Given the description of an element on the screen output the (x, y) to click on. 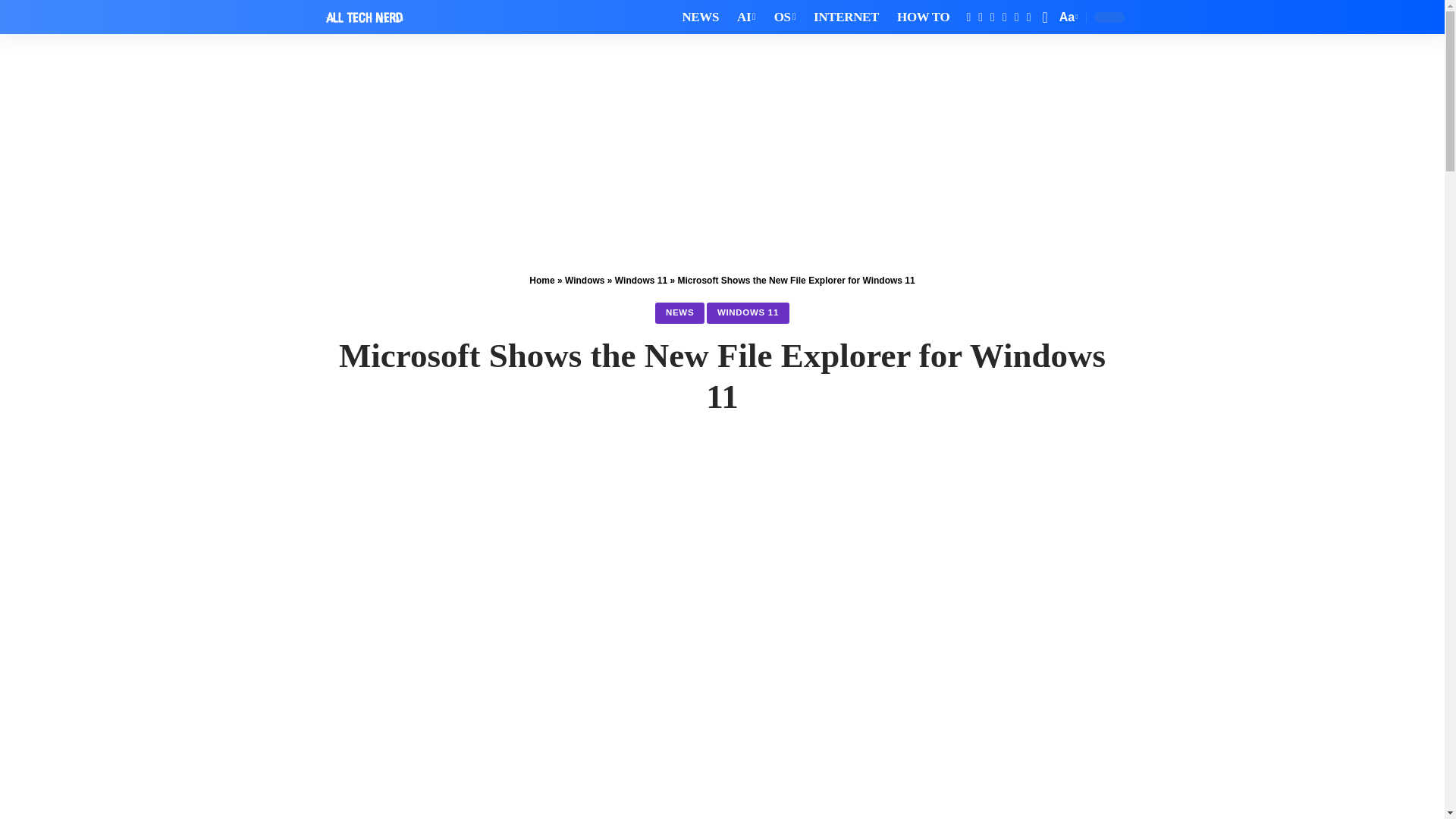
INTERNET (846, 17)
All Tech Nerd (363, 17)
AI (746, 17)
HOW TO (923, 17)
Aa (1066, 16)
NEWS (700, 17)
OS (785, 17)
